Given the description of an element on the screen output the (x, y) to click on. 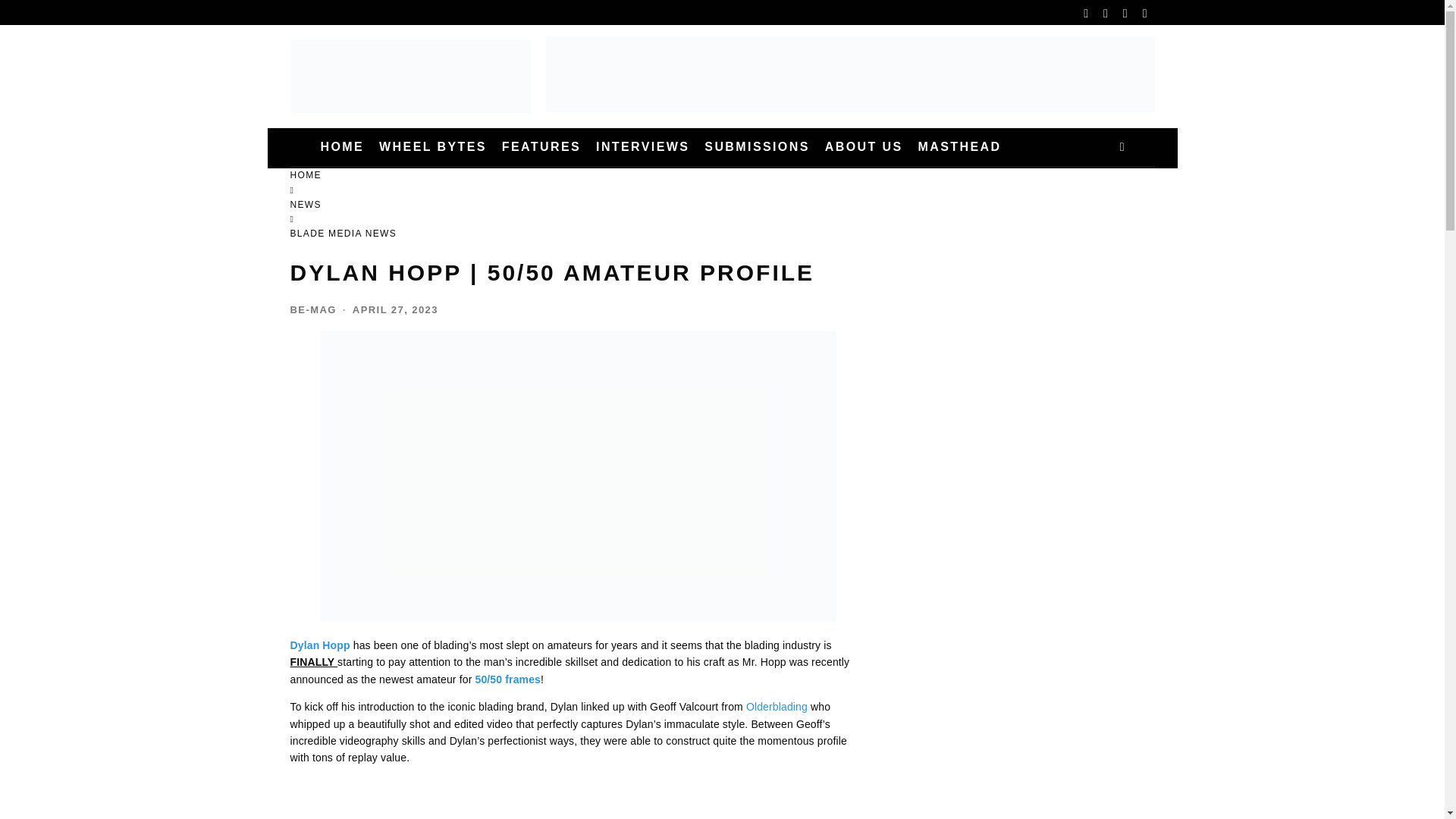
FEATURES (541, 147)
WHEEL BYTES (433, 147)
HOME (342, 147)
